Given the description of an element on the screen output the (x, y) to click on. 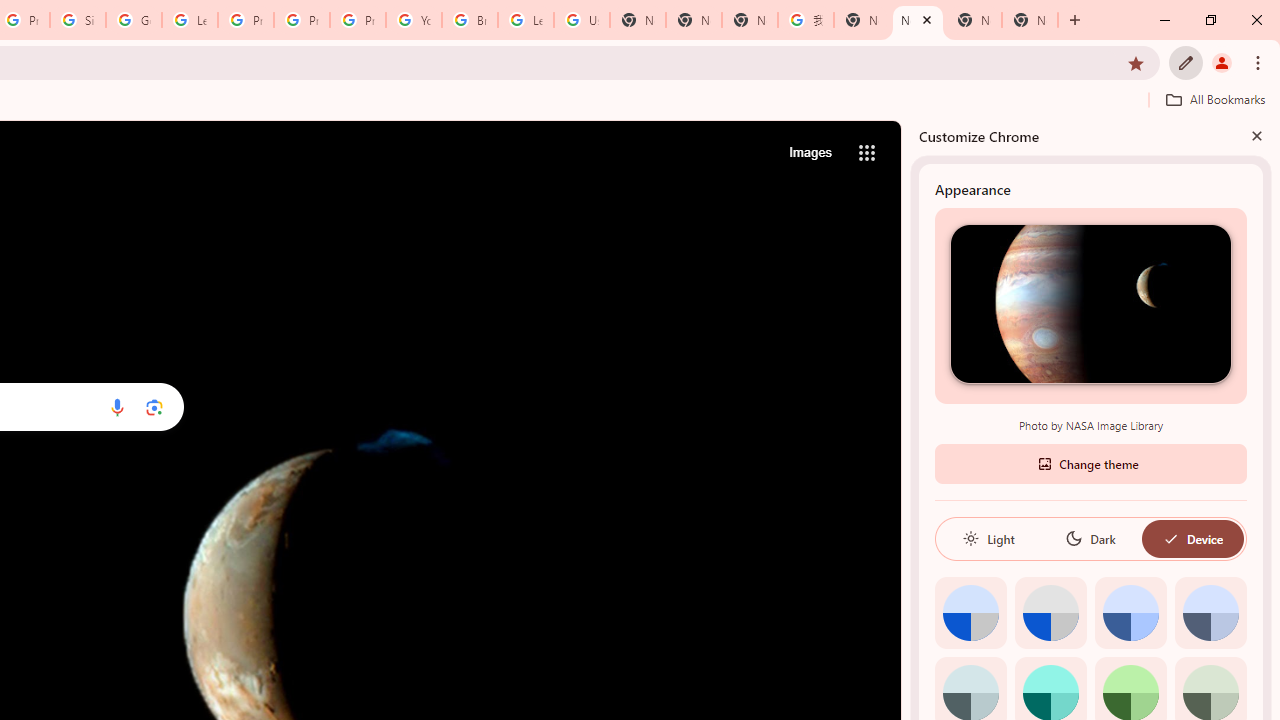
Sign in - Google Accounts (77, 20)
Privacy Help Center - Policies Help (245, 20)
Change theme (1090, 462)
Blue (1130, 612)
Grey default color (1050, 612)
Browse Chrome as a guest - Computer - Google Chrome Help (469, 20)
Device (1192, 538)
Search by image (153, 407)
Privacy Help Center - Policies Help (301, 20)
Search by voice (116, 407)
